Given the description of an element on the screen output the (x, y) to click on. 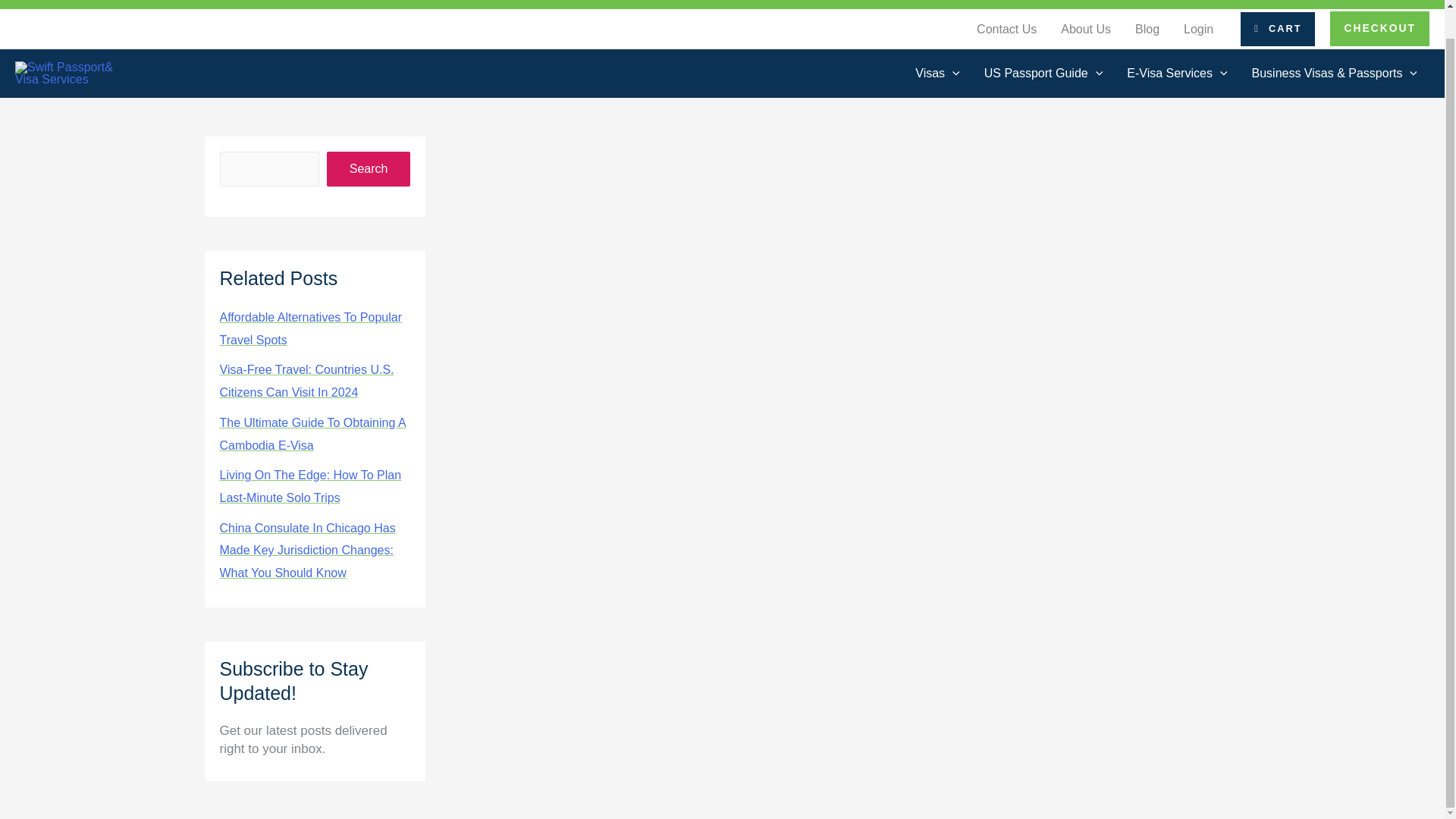
Login (1198, 29)
About Us (1085, 29)
US Passport Guide (1043, 73)
Contact Us (1005, 29)
CHECKOUT (1379, 28)
Visas (936, 73)
E-Visa Services (1177, 73)
Blog (1147, 29)
CART (1277, 28)
